Given the description of an element on the screen output the (x, y) to click on. 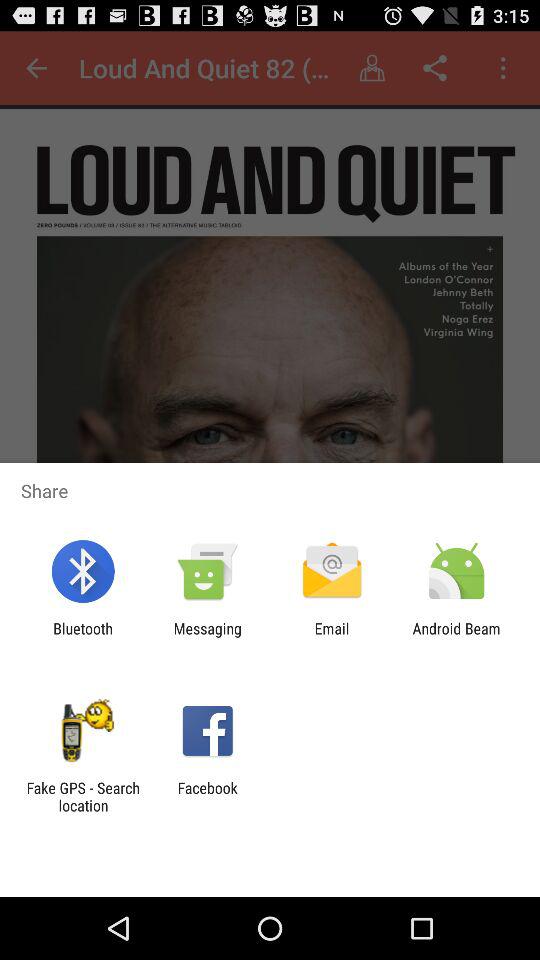
flip until the facebook icon (207, 796)
